Given the description of an element on the screen output the (x, y) to click on. 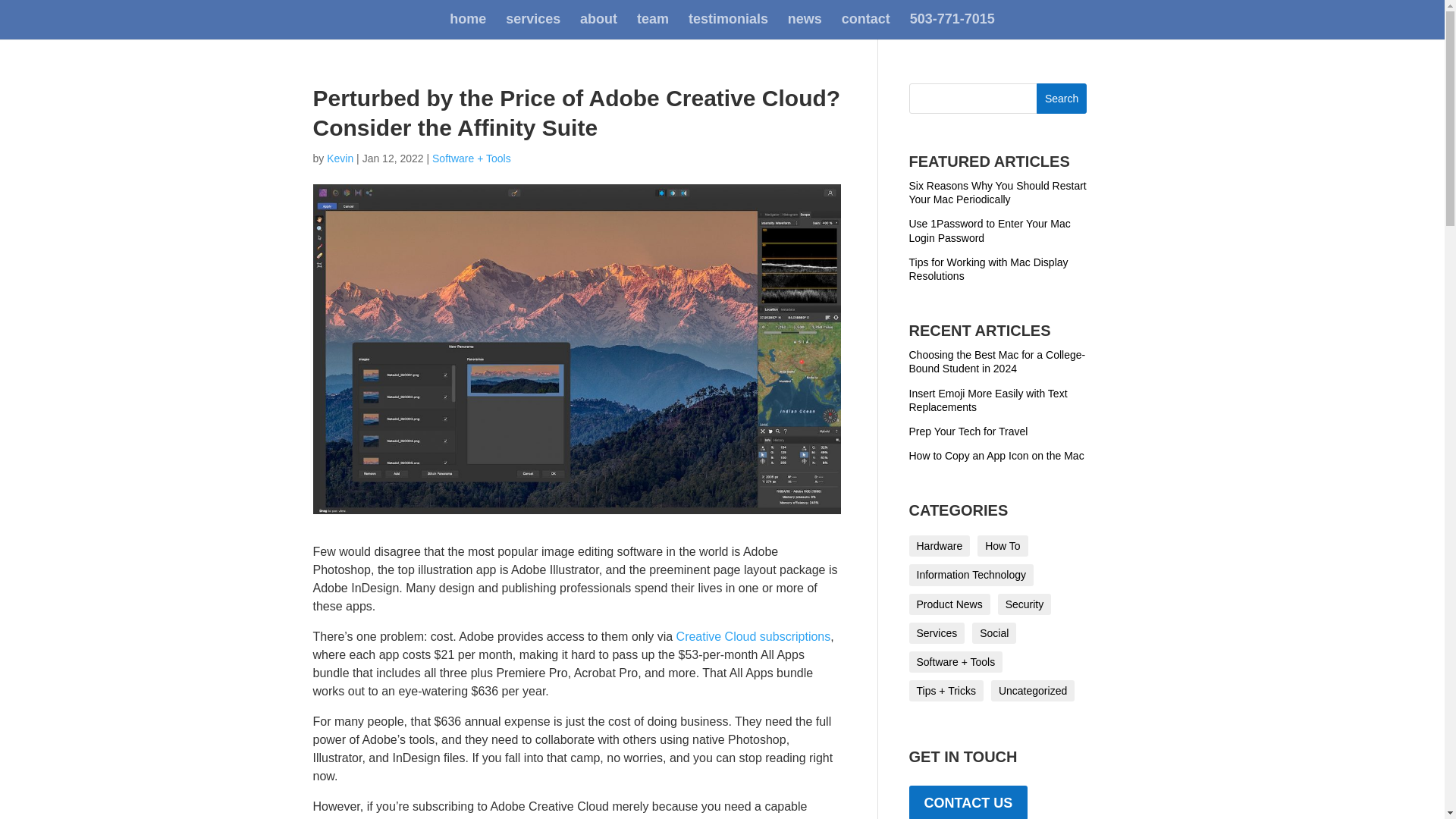
Choosing the Best Mac for a College-Bound Student in 2024 (996, 361)
Creative Cloud subscriptions (754, 635)
Use 1Password to Enter Your Mac Login Password (989, 230)
Search (1061, 98)
contact (865, 26)
503-771-7015 (952, 26)
Six Reasons Why You Should Restart Your Mac Periodically (997, 192)
Posts by Kevin (339, 158)
testimonials (728, 26)
Services (935, 632)
Prep Your Tech for Travel (967, 431)
Search (1061, 98)
Security (1024, 604)
How To (1001, 545)
Kevin (339, 158)
